Given the description of an element on the screen output the (x, y) to click on. 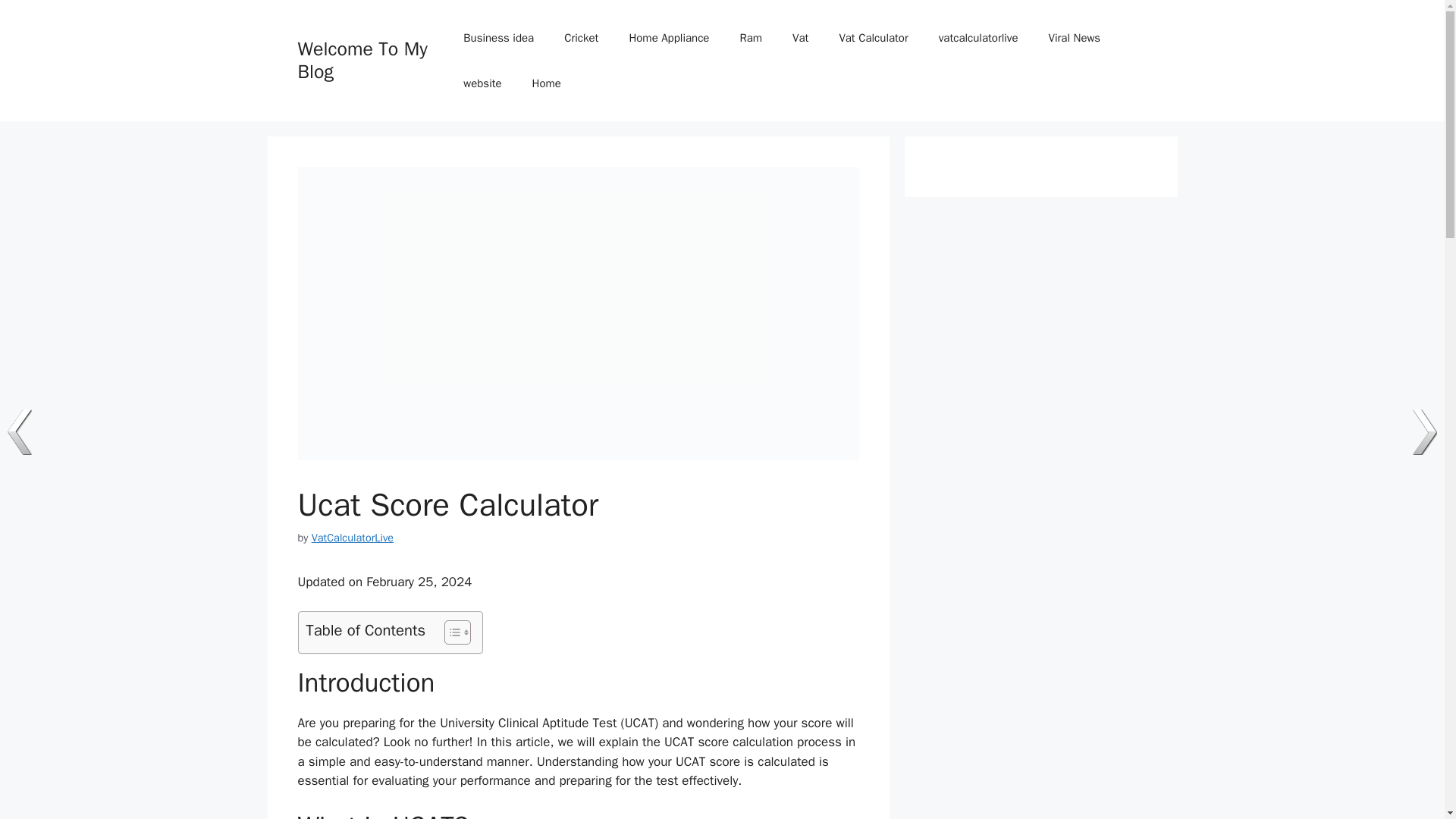
website (482, 83)
Business idea (498, 37)
Vat Calculator (873, 37)
Home Appliance (667, 37)
View all posts by VatCalculatorLive (352, 537)
Ram (750, 37)
VatCalculatorLive (352, 537)
Vat (800, 37)
Welcome To My Blog (361, 59)
Viral News (1074, 37)
Cricket (580, 37)
vatcalculatorlive (978, 37)
Home (546, 83)
